Given the description of an element on the screen output the (x, y) to click on. 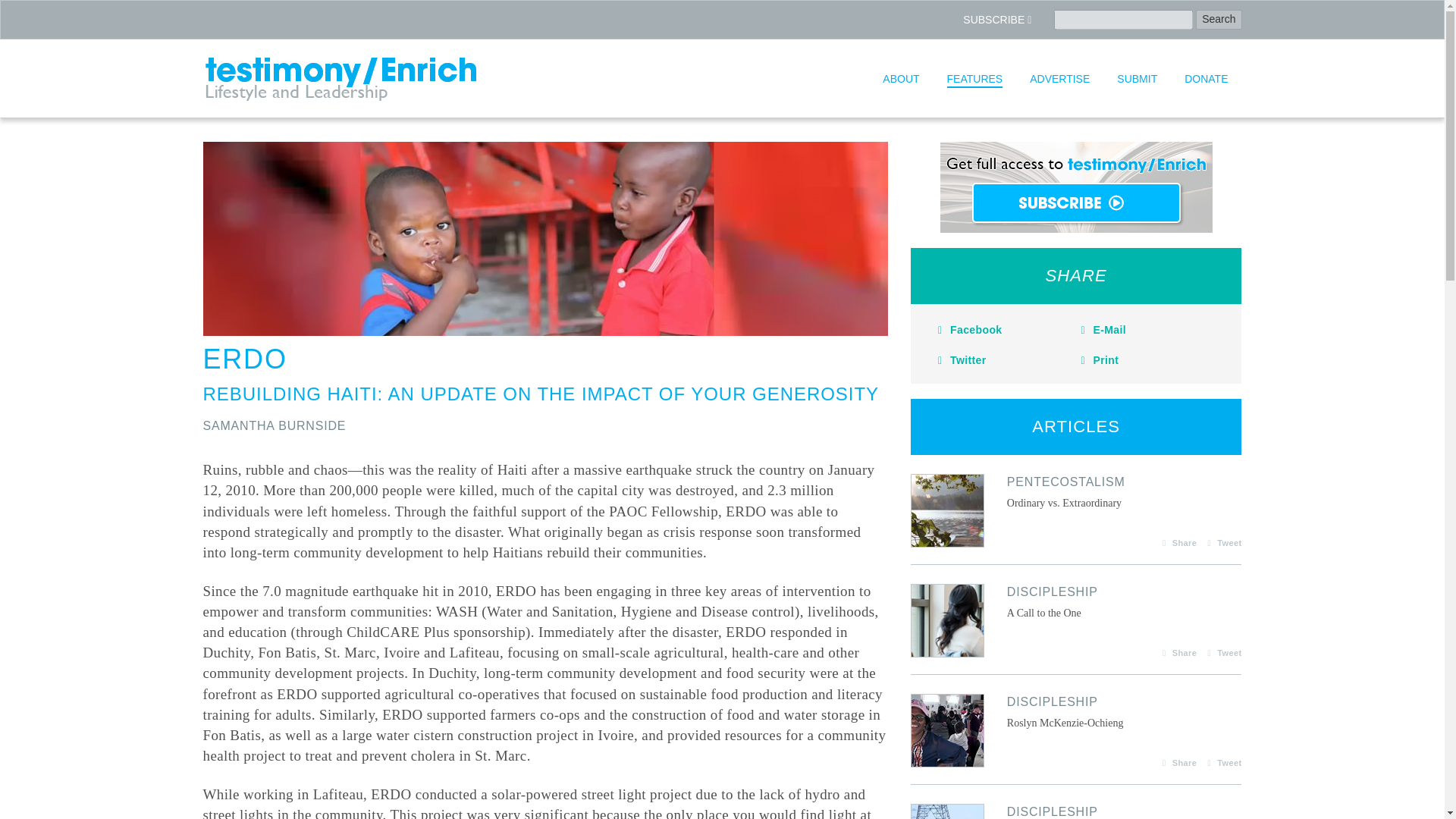
Share (1076, 491)
ADVERTISE (1076, 811)
Print (1175, 653)
Twitter (1059, 78)
Tweet (1096, 359)
FEATURES (960, 359)
DONATE (1220, 543)
E-Mail (974, 78)
Subscribe (1205, 78)
Search (1100, 329)
Search (1076, 186)
Facebook (1218, 19)
